Given the description of an element on the screen output the (x, y) to click on. 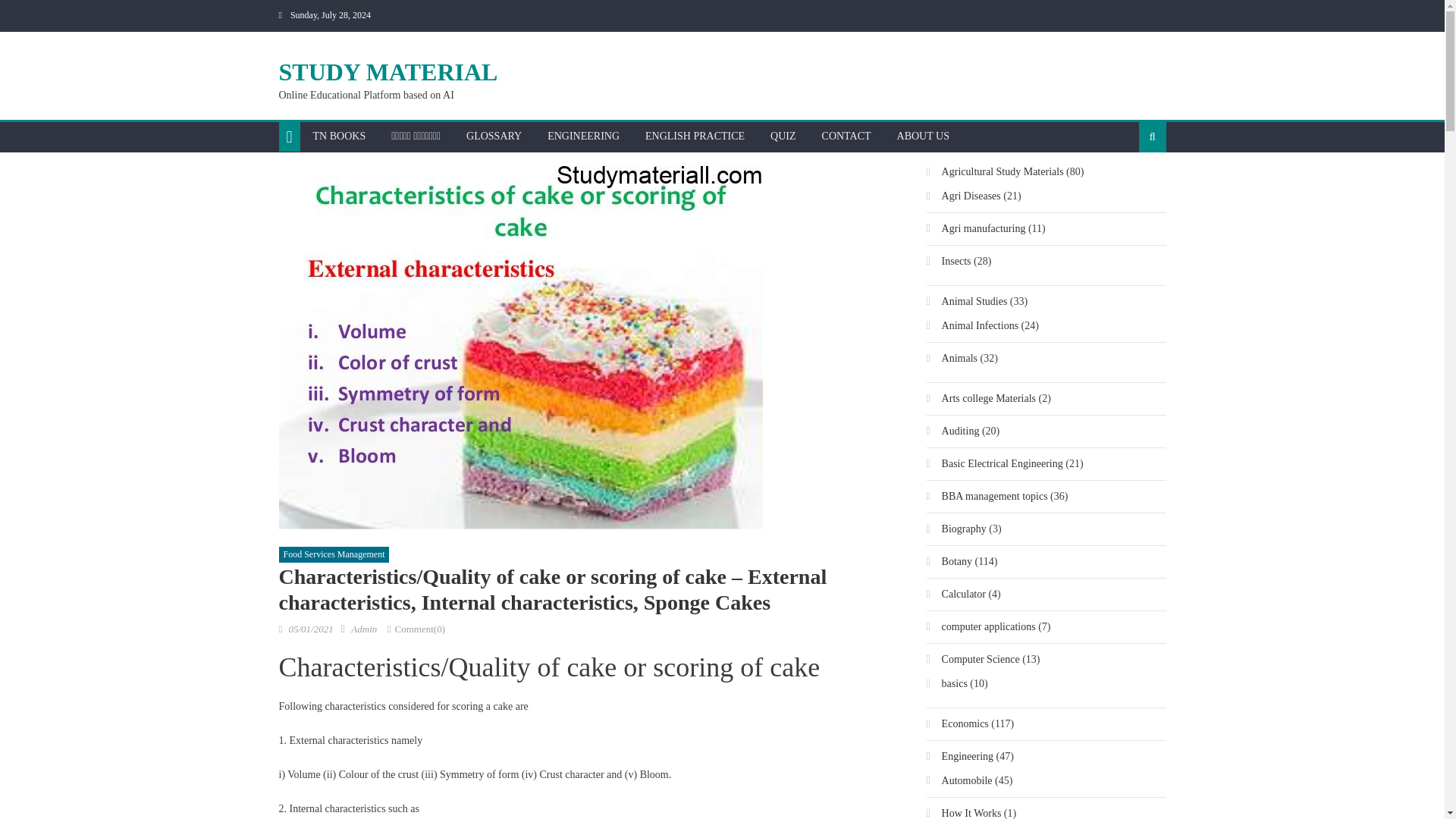
TN BOOKS (339, 136)
Admin (363, 628)
Food Services Management (334, 555)
GLOSSARY (493, 136)
CONTACT (846, 136)
STUDY MATERIAL (388, 71)
ENGINEERING (582, 136)
ABOUT US (922, 136)
Search (1128, 185)
Agricultural Study Materials (995, 171)
ENGLISH PRACTICE (694, 136)
QUIZ (782, 136)
